Given the description of an element on the screen output the (x, y) to click on. 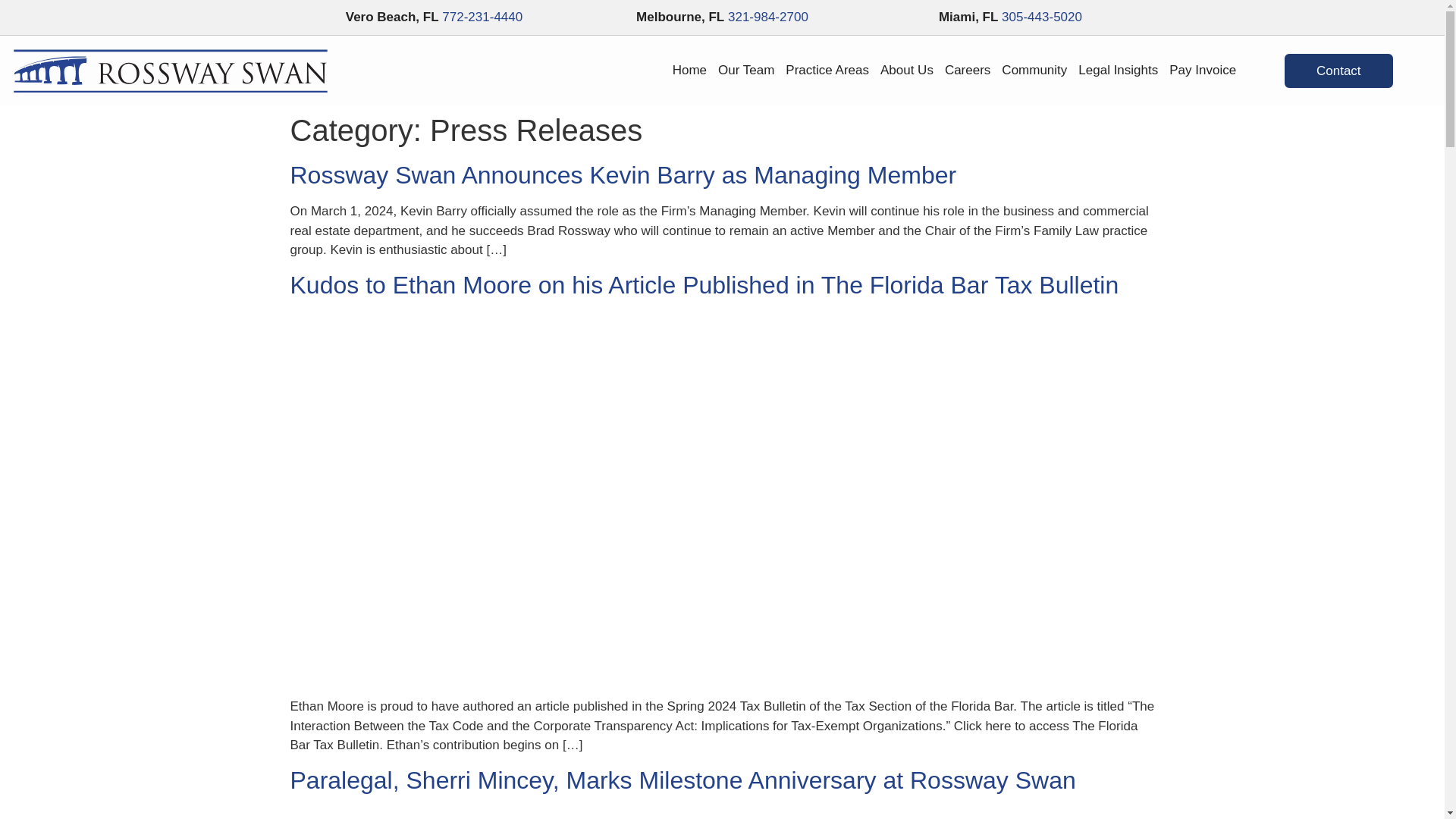
Our Team (745, 70)
772-231-4440 (482, 16)
321-984-2700 (768, 16)
Practice Areas (827, 70)
305-443-5020 (1041, 16)
Home (689, 70)
